Given the description of an element on the screen output the (x, y) to click on. 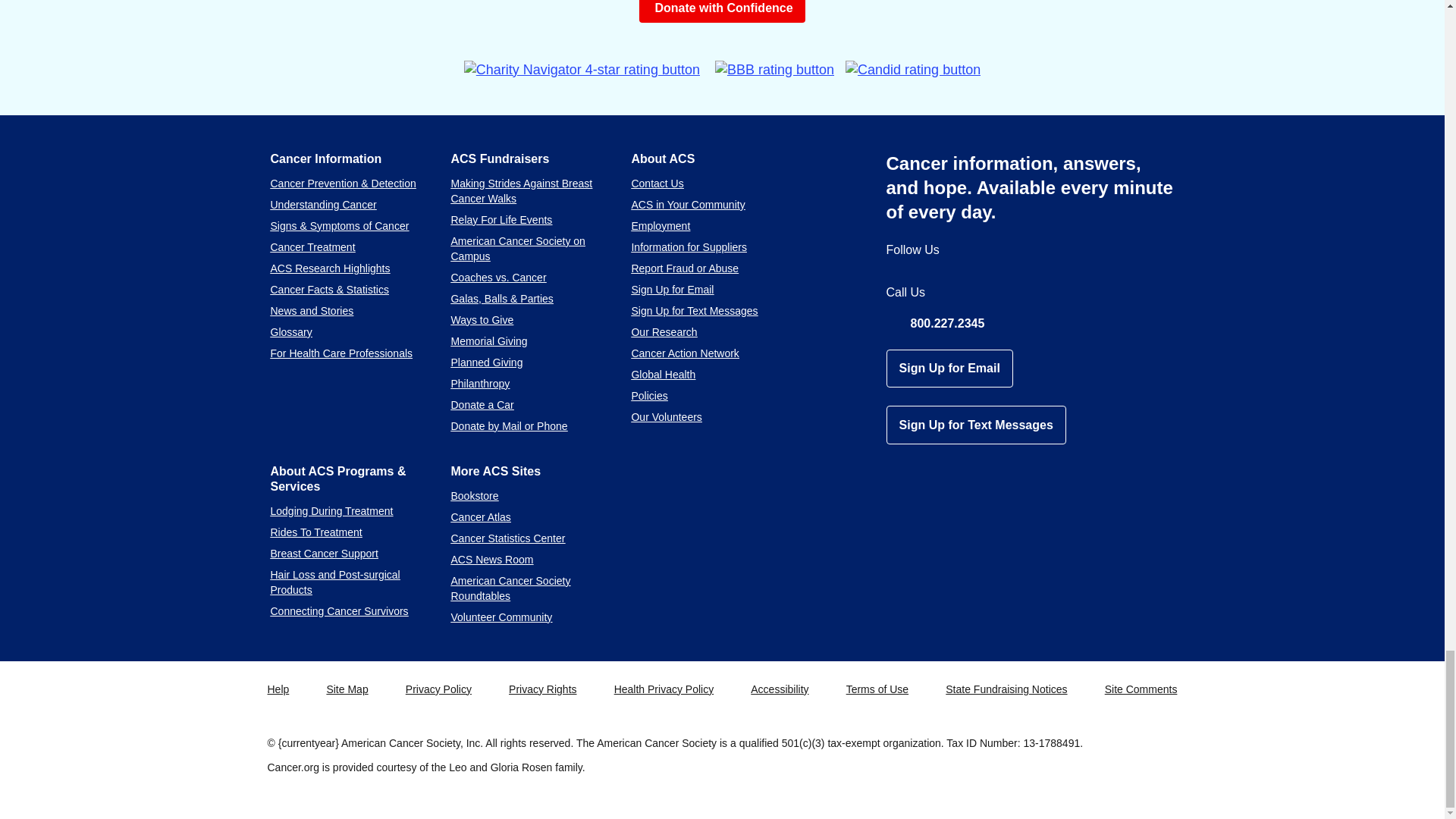
Relay For Life Events (500, 219)
Cancer Treatment (312, 246)
Understanding Cancer (322, 204)
Making Strides Against Breast Cancer Walks (520, 190)
News and Stories (311, 310)
For Health Care Professionals (340, 353)
ACS Research Highlights (329, 268)
Glossary (290, 331)
